Given the description of an element on the screen output the (x, y) to click on. 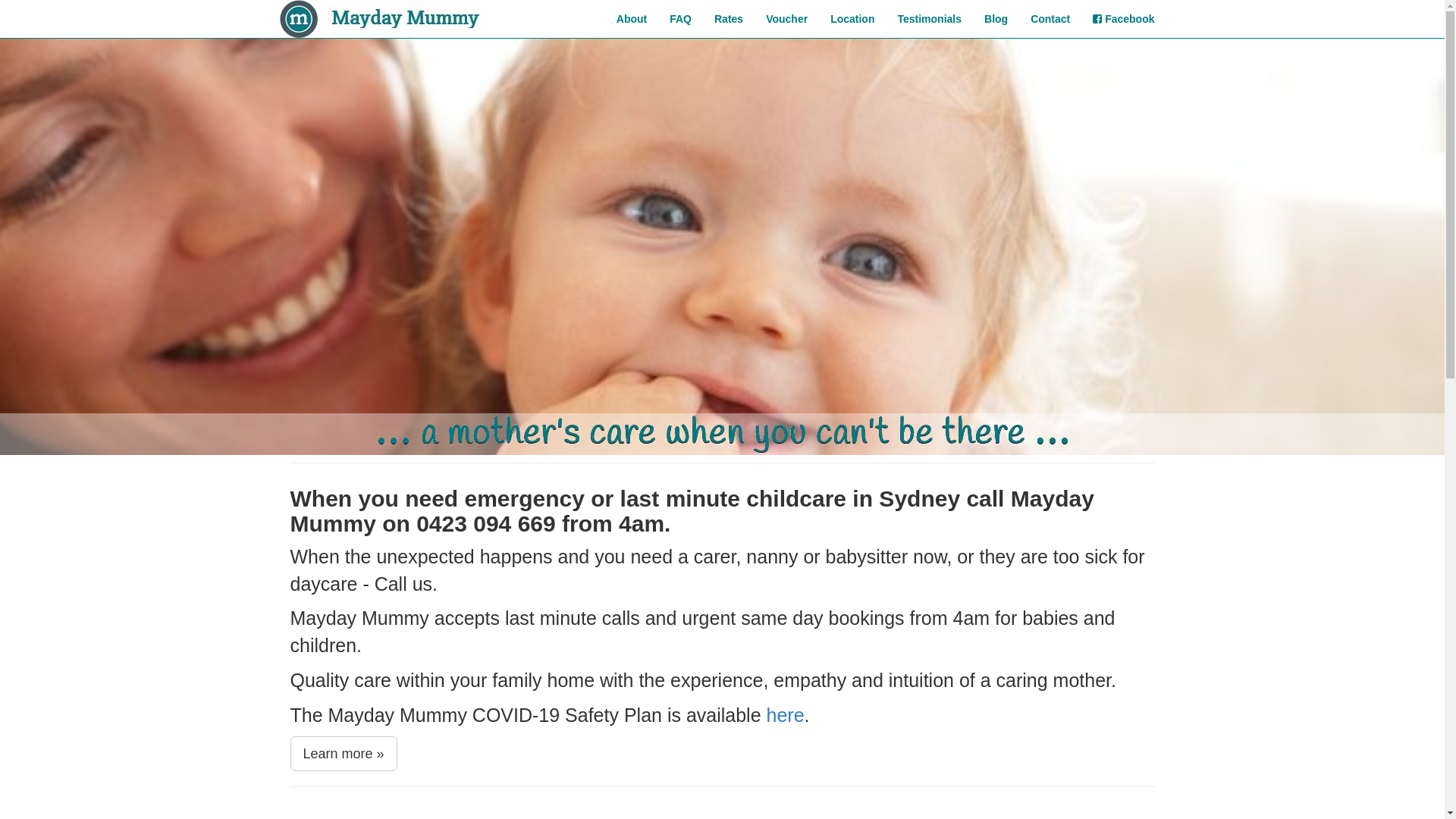
Blog Element type: text (995, 18)
Contact Element type: text (1050, 18)
Voucher Element type: text (786, 18)
Testimonials Element type: text (928, 18)
Location Element type: text (852, 18)
here Element type: text (785, 714)
Facebook Element type: text (1123, 18)
About Element type: text (631, 18)
FAQ Element type: text (680, 18)
Rates Element type: text (728, 18)
